Given the description of an element on the screen output the (x, y) to click on. 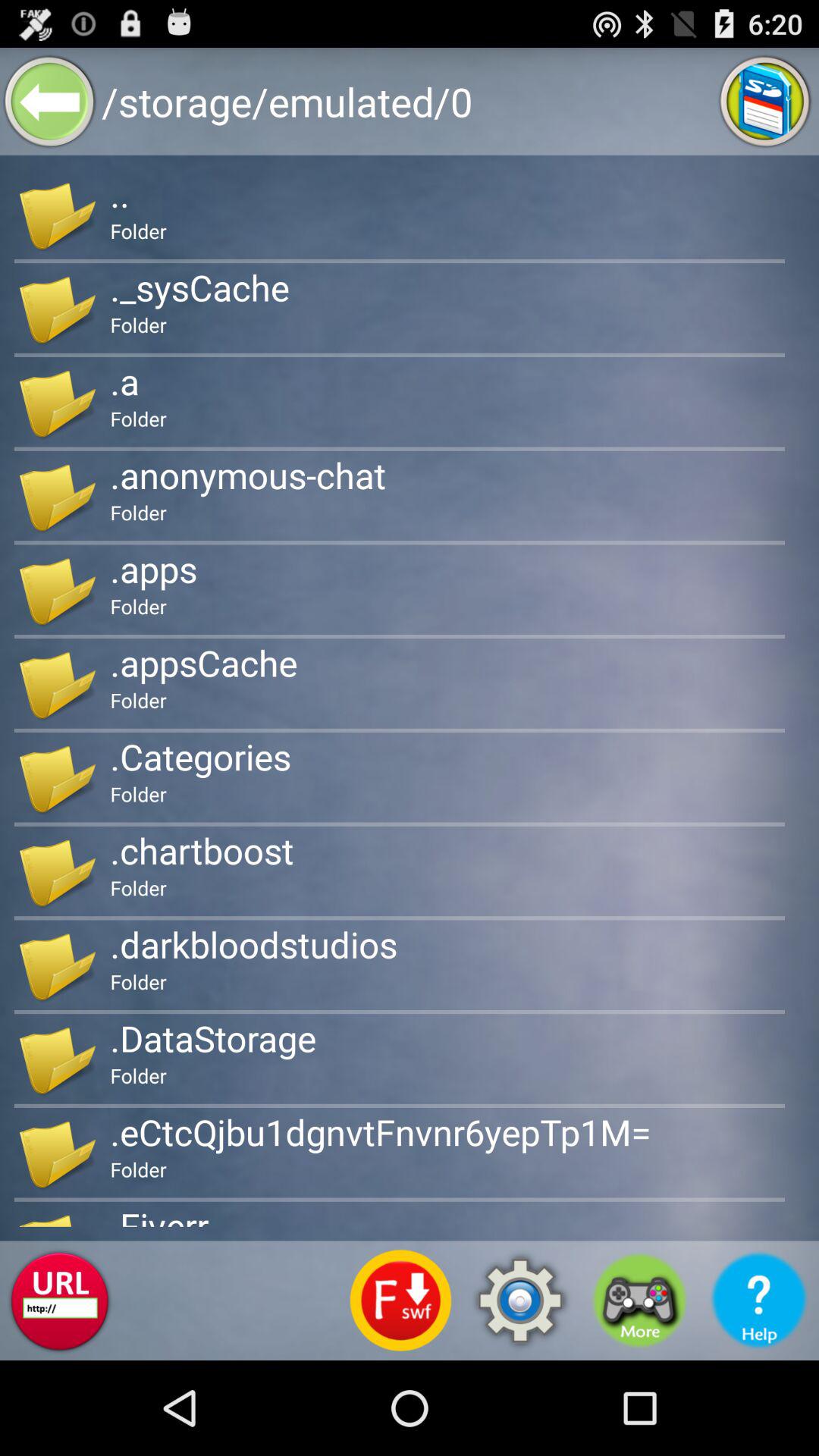
open the .datastorage item (213, 1038)
